Given the description of an element on the screen output the (x, y) to click on. 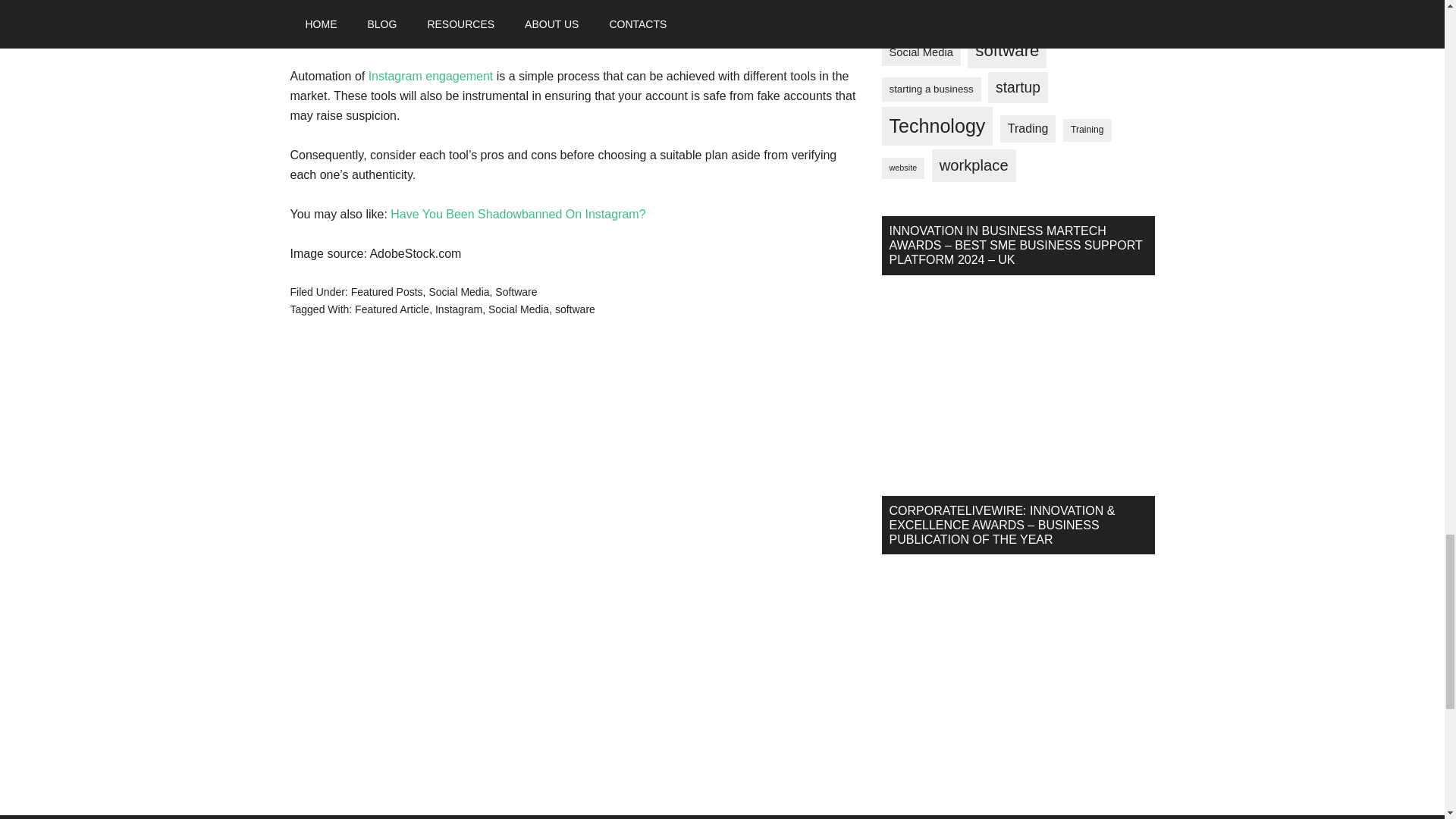
Social Media (517, 309)
Featured Article (392, 309)
Have You Been Shadowbanned On Instagram? (517, 214)
Instagram (458, 309)
software (574, 309)
Software (516, 291)
Featured Posts (386, 291)
Instagram engagement (430, 75)
Social Media (458, 291)
